Given the description of an element on the screen output the (x, y) to click on. 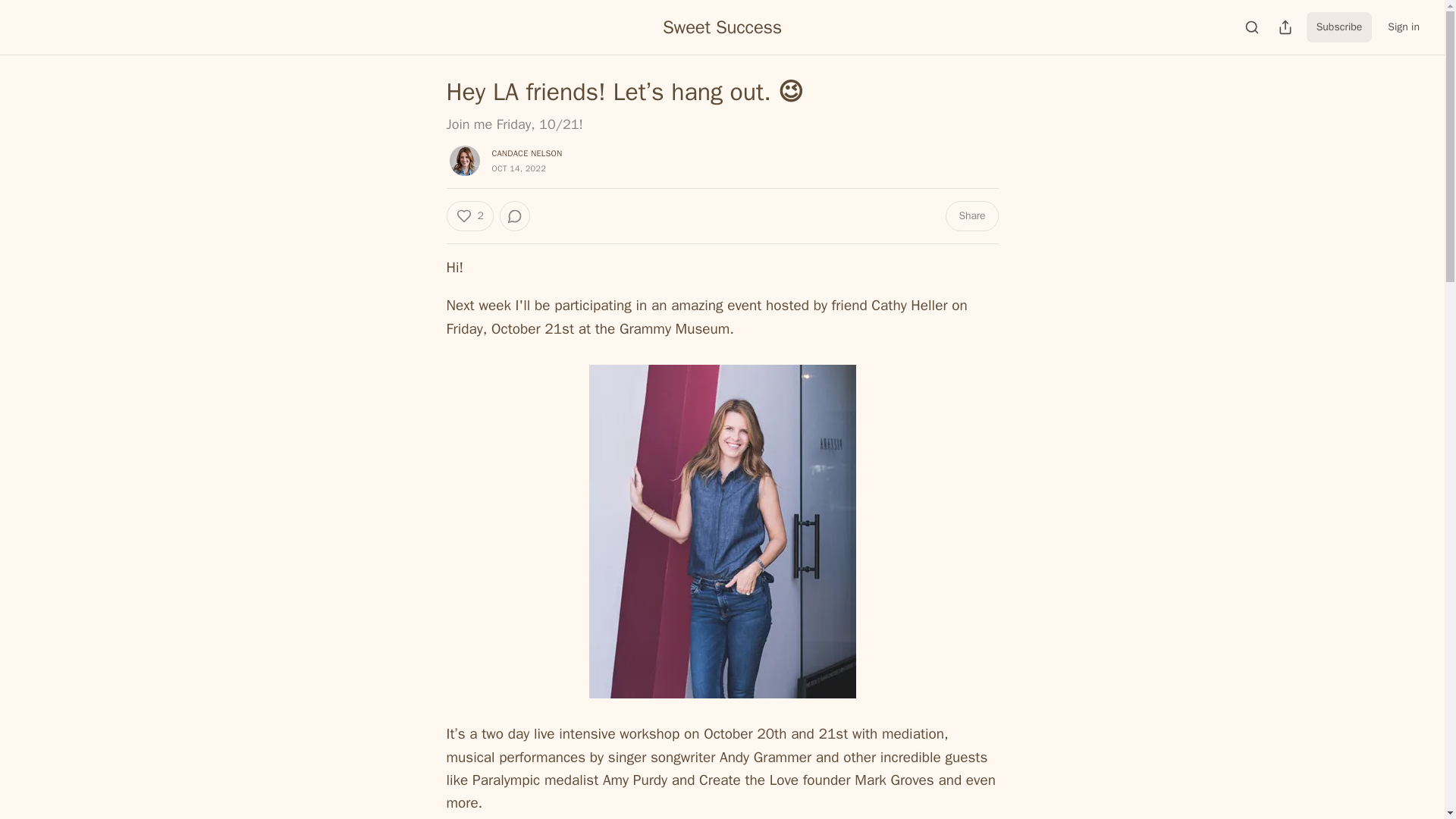
CANDACE NELSON (527, 153)
Sweet Success (721, 26)
Subscribe (1339, 27)
Sign in (1403, 27)
Share (970, 215)
2 (469, 215)
